Given the description of an element on the screen output the (x, y) to click on. 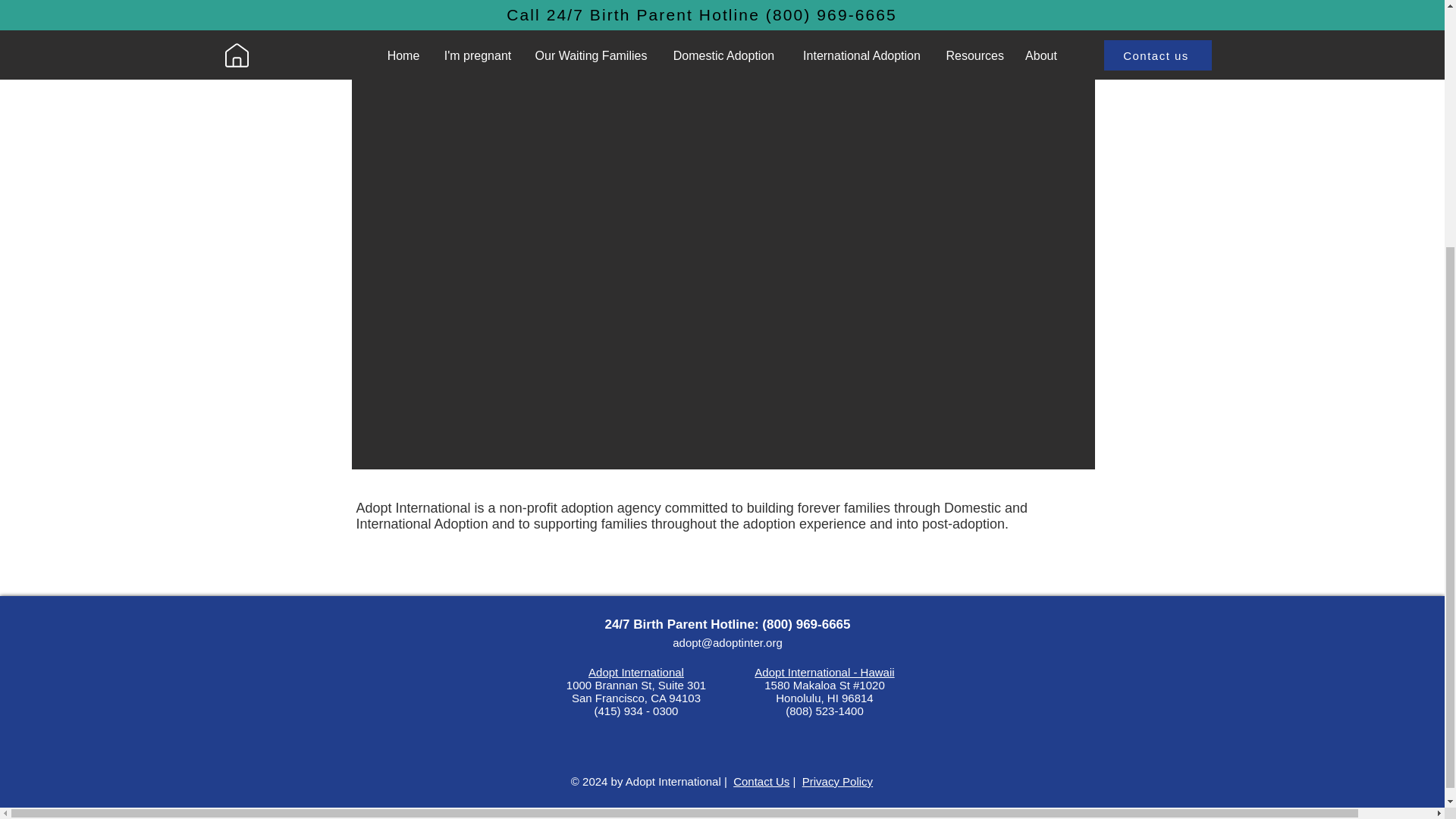
Contact Us (761, 780)
Calendar (494, 12)
Privacy Policy (837, 780)
Adopt International (636, 671)
Adopt International - Hawaii (823, 671)
